Given the description of an element on the screen output the (x, y) to click on. 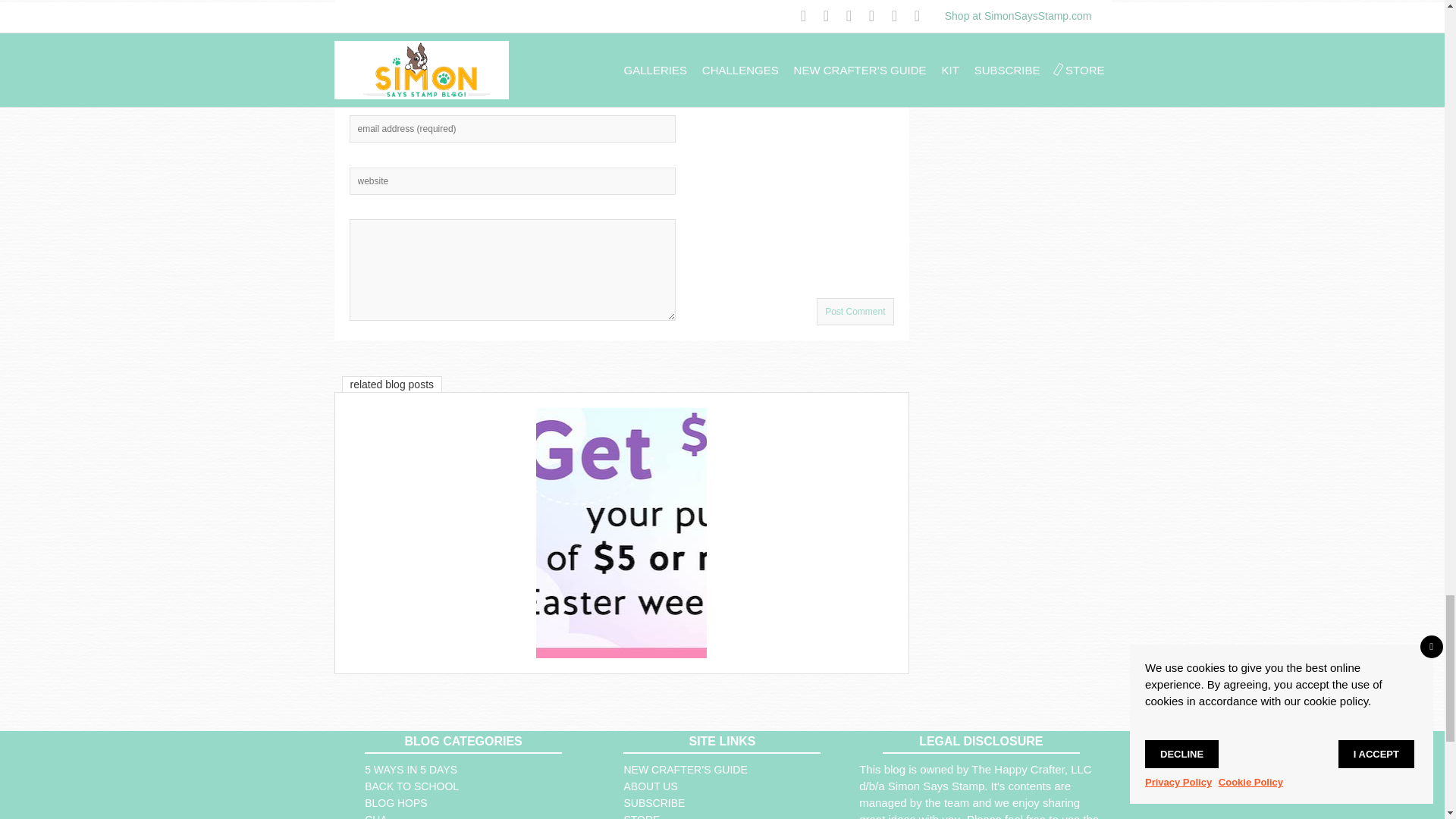
Post Comment (854, 311)
